Given the description of an element on the screen output the (x, y) to click on. 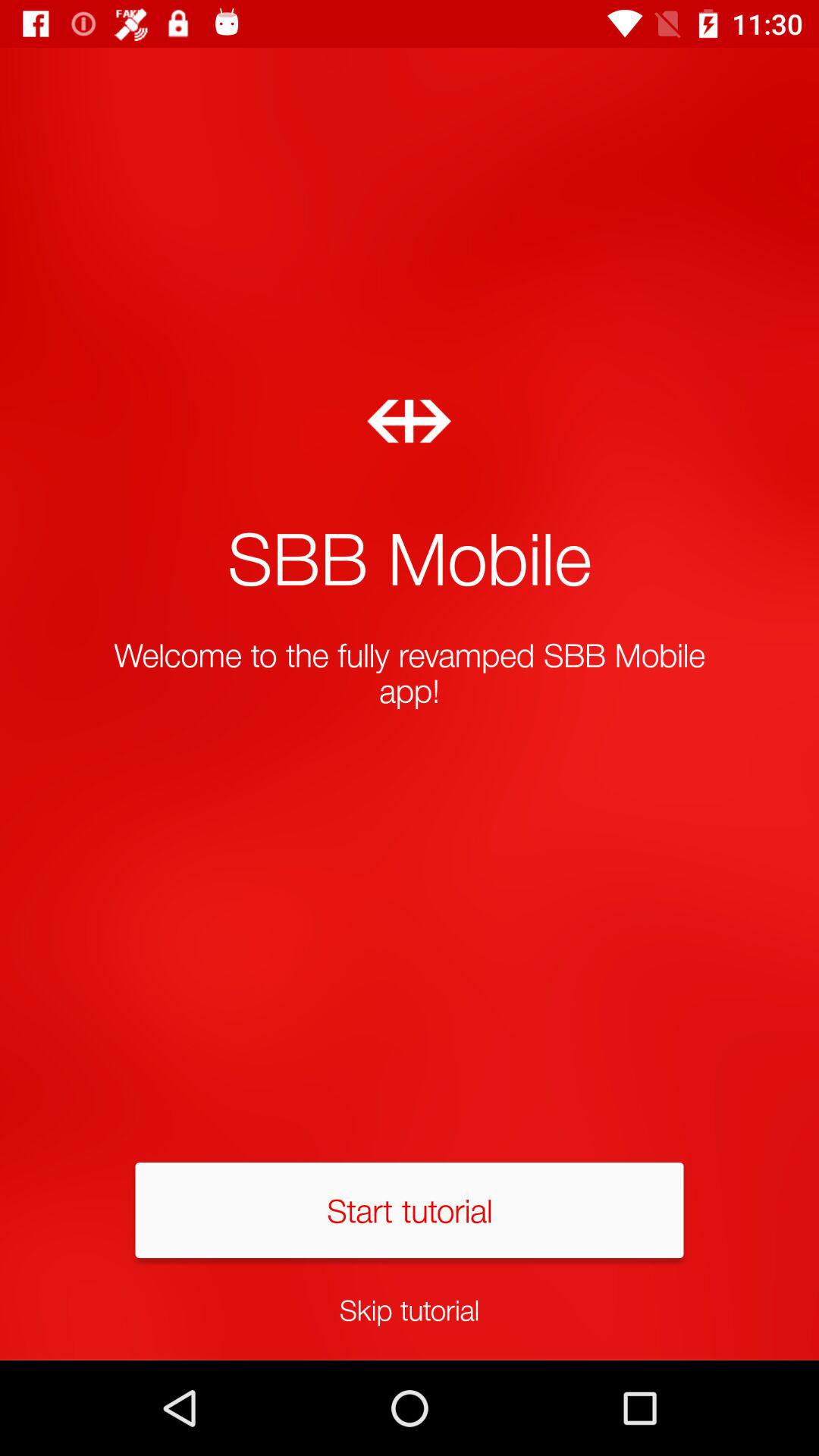
select the icon below the start tutorial icon (409, 1309)
